Given the description of an element on the screen output the (x, y) to click on. 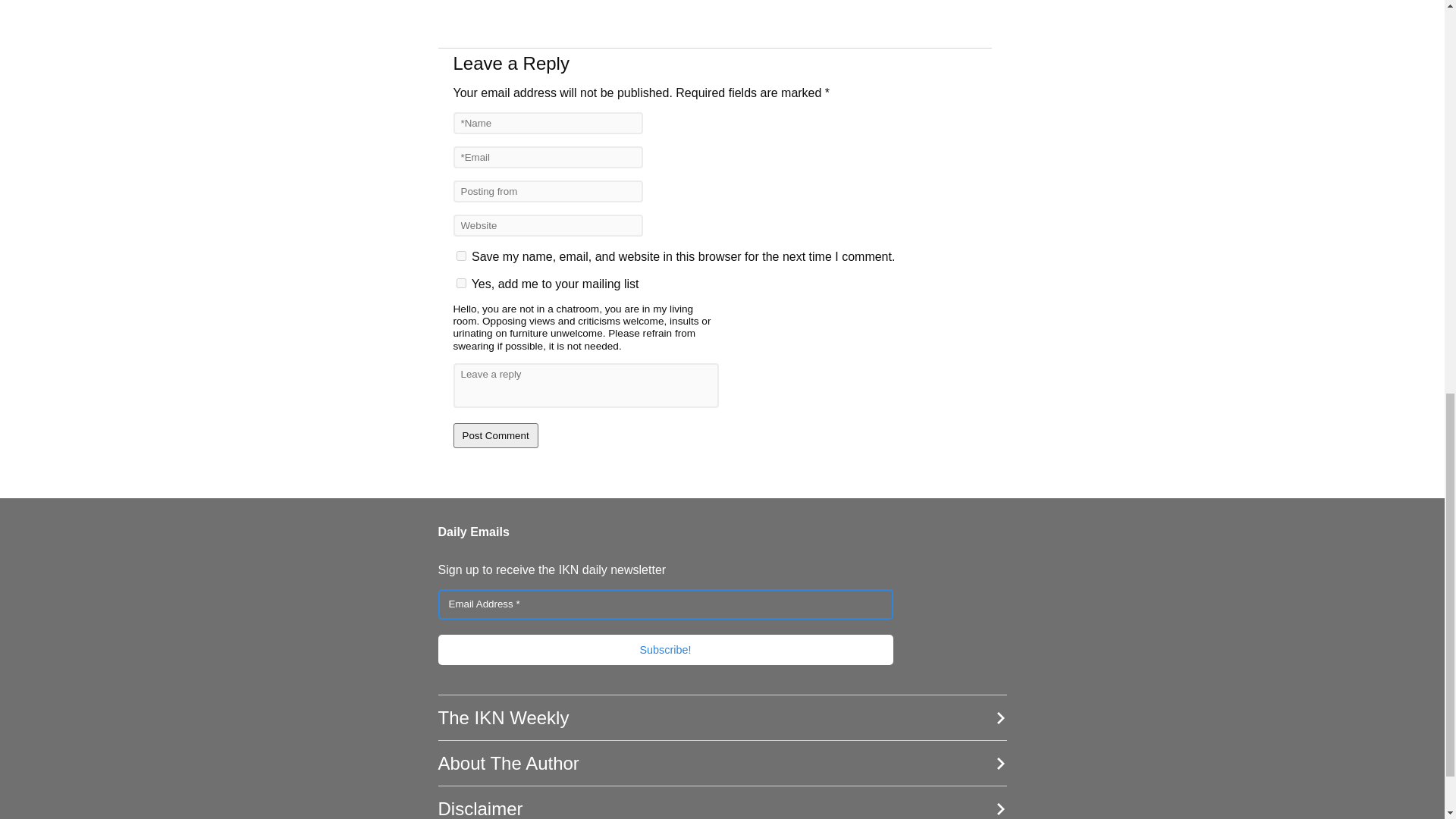
Email Address (665, 603)
Post Comment (495, 435)
yes (461, 255)
Subscribe! (665, 648)
About The Author (722, 762)
Post Comment (495, 435)
1 (461, 283)
Subscribe! (665, 648)
